Given the description of an element on the screen output the (x, y) to click on. 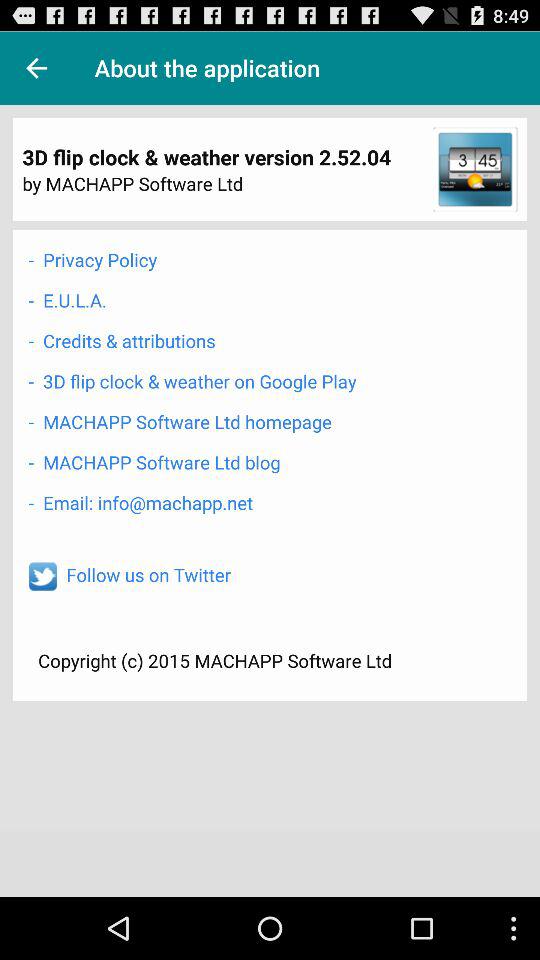
click the icon next to the follow us on (42, 576)
